Given the description of an element on the screen output the (x, y) to click on. 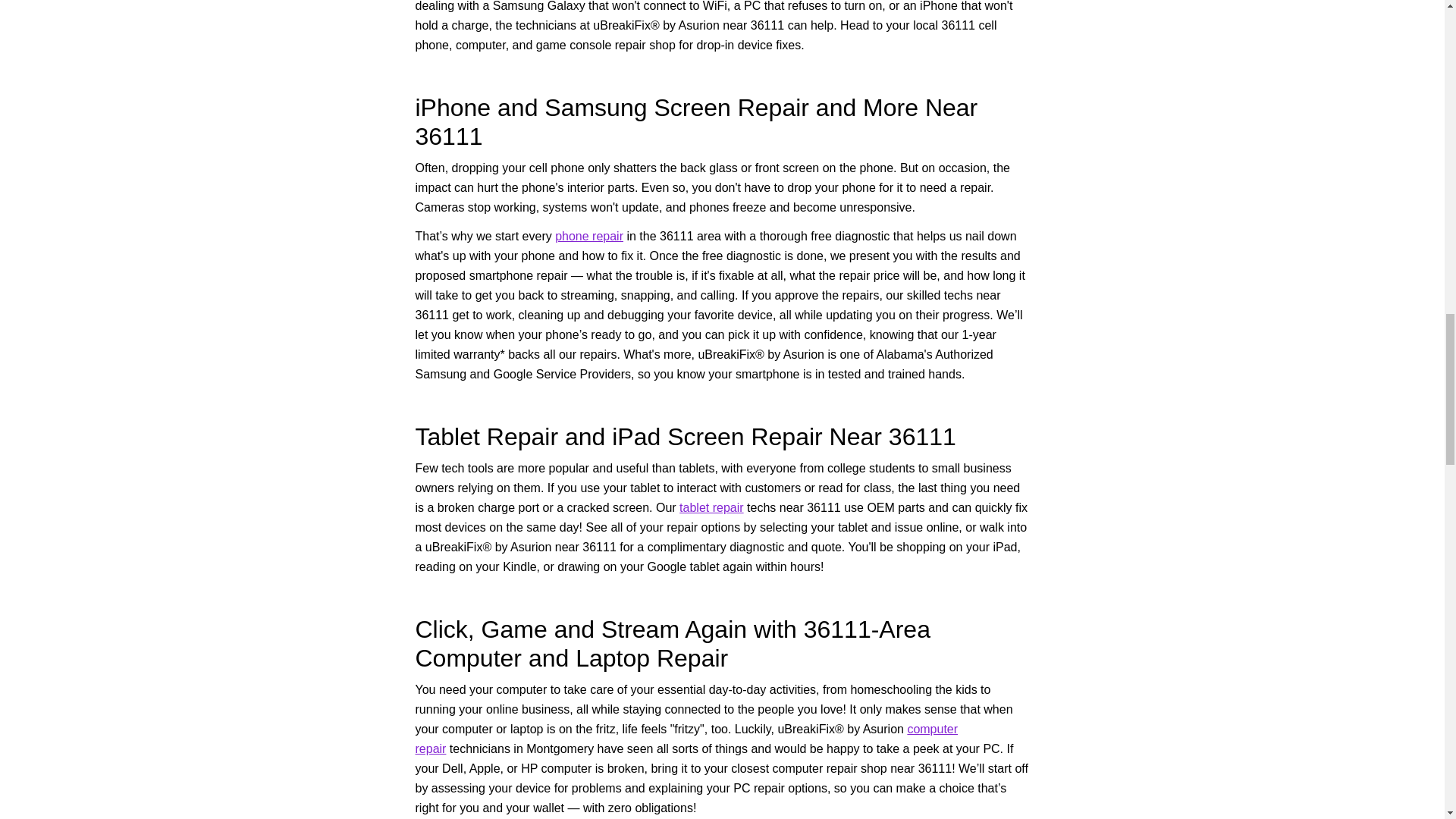
phone repair (588, 236)
computer repair (686, 738)
tablet repair (711, 507)
